Given the description of an element on the screen output the (x, y) to click on. 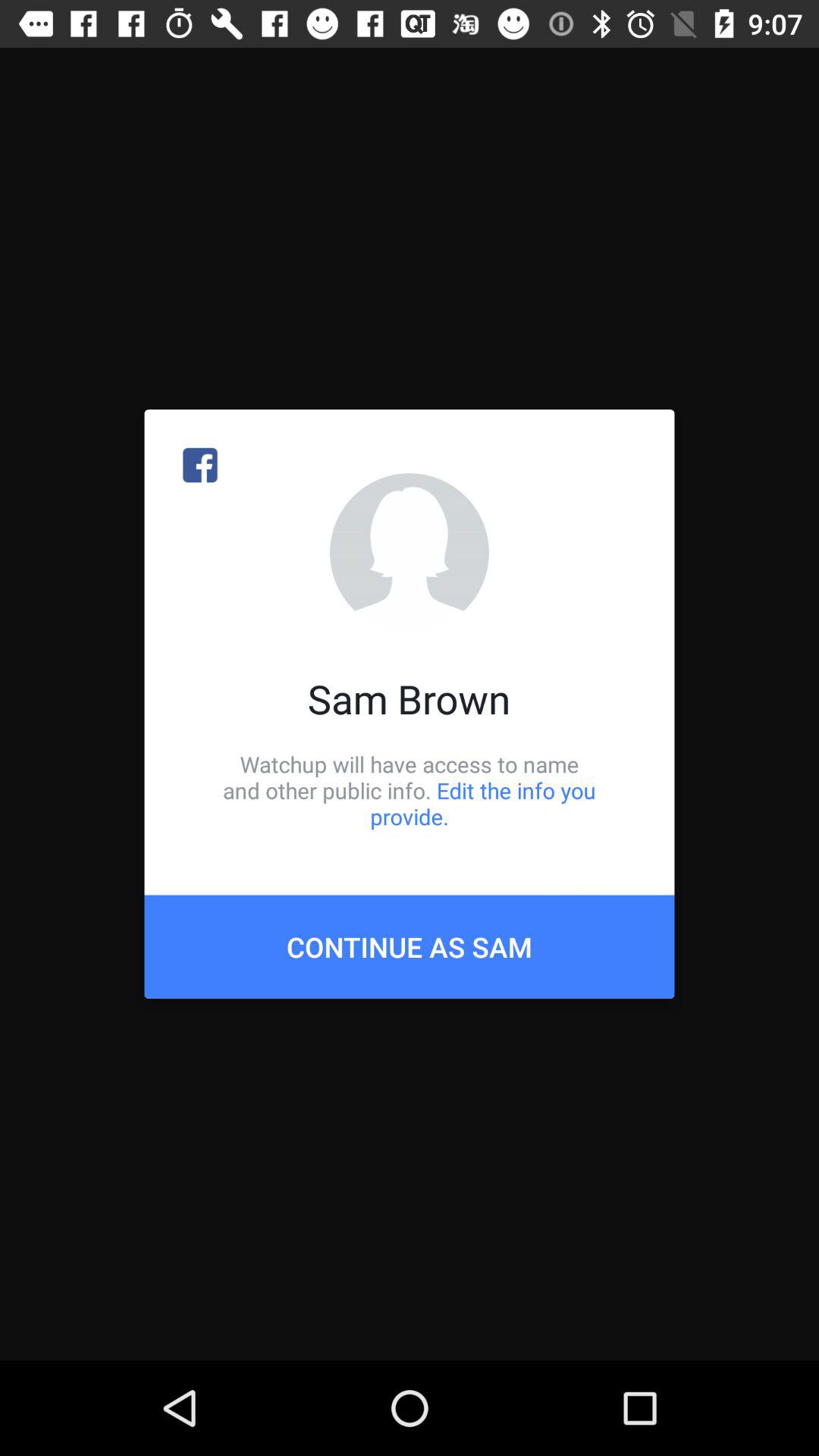
open the item below sam brown icon (409, 790)
